Given the description of an element on the screen output the (x, y) to click on. 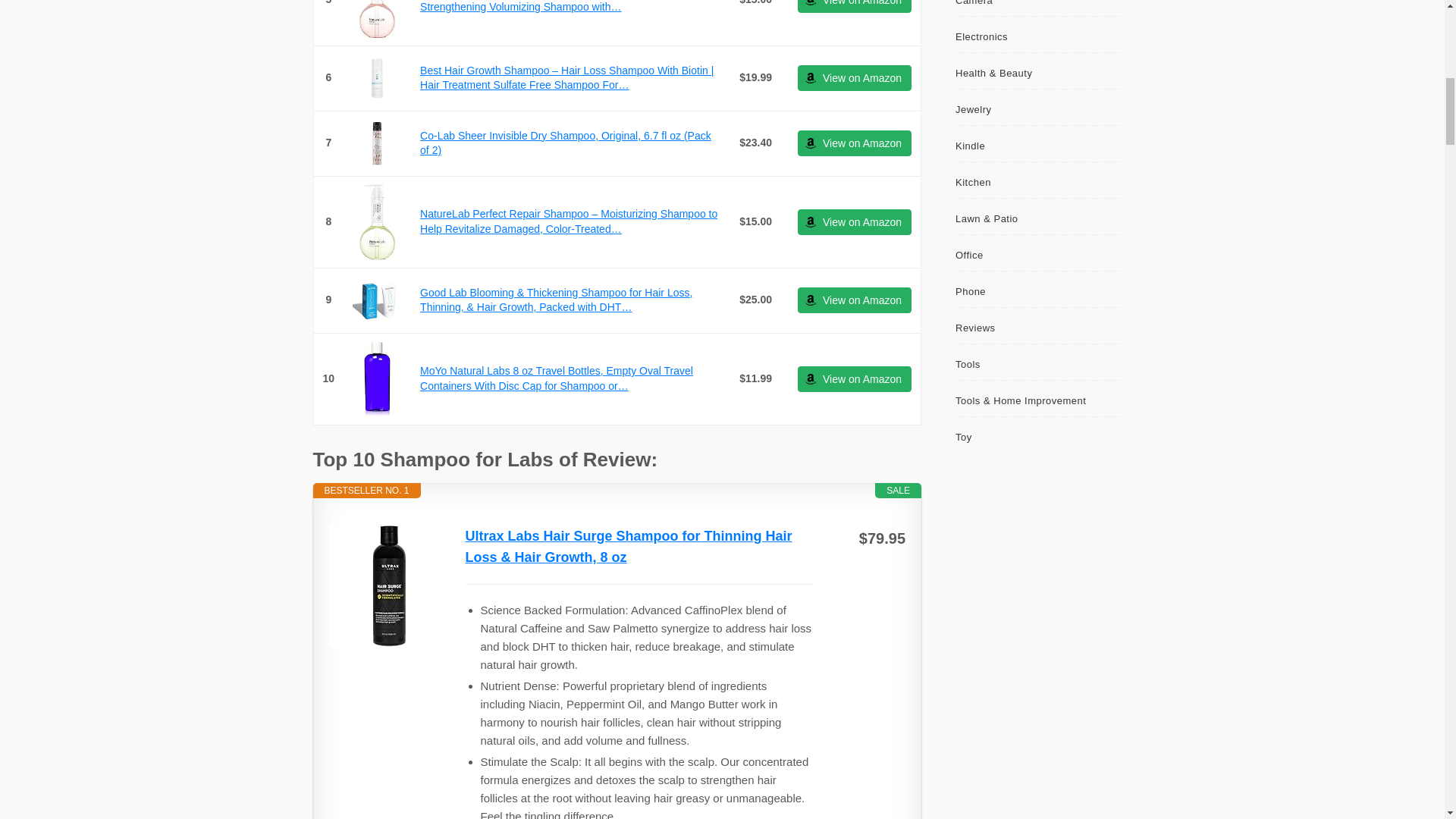
View on Amazon (854, 379)
View on Amazon (854, 143)
View on Amazon (854, 77)
View on Amazon (854, 6)
View on Amazon (854, 299)
View on Amazon (854, 6)
View on Amazon (854, 222)
